Given the description of an element on the screen output the (x, y) to click on. 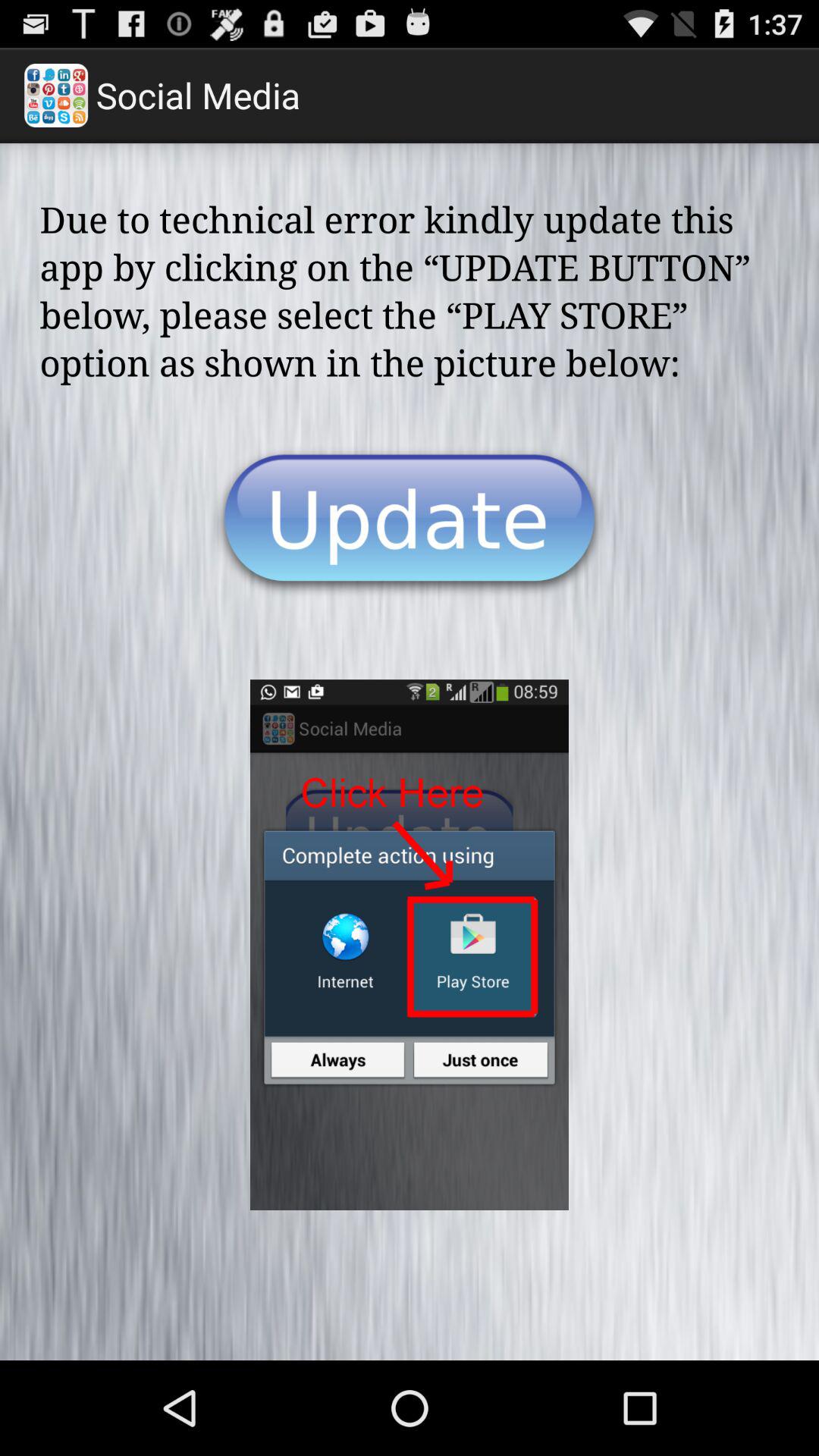
update app (409, 522)
